Given the description of an element on the screen output the (x, y) to click on. 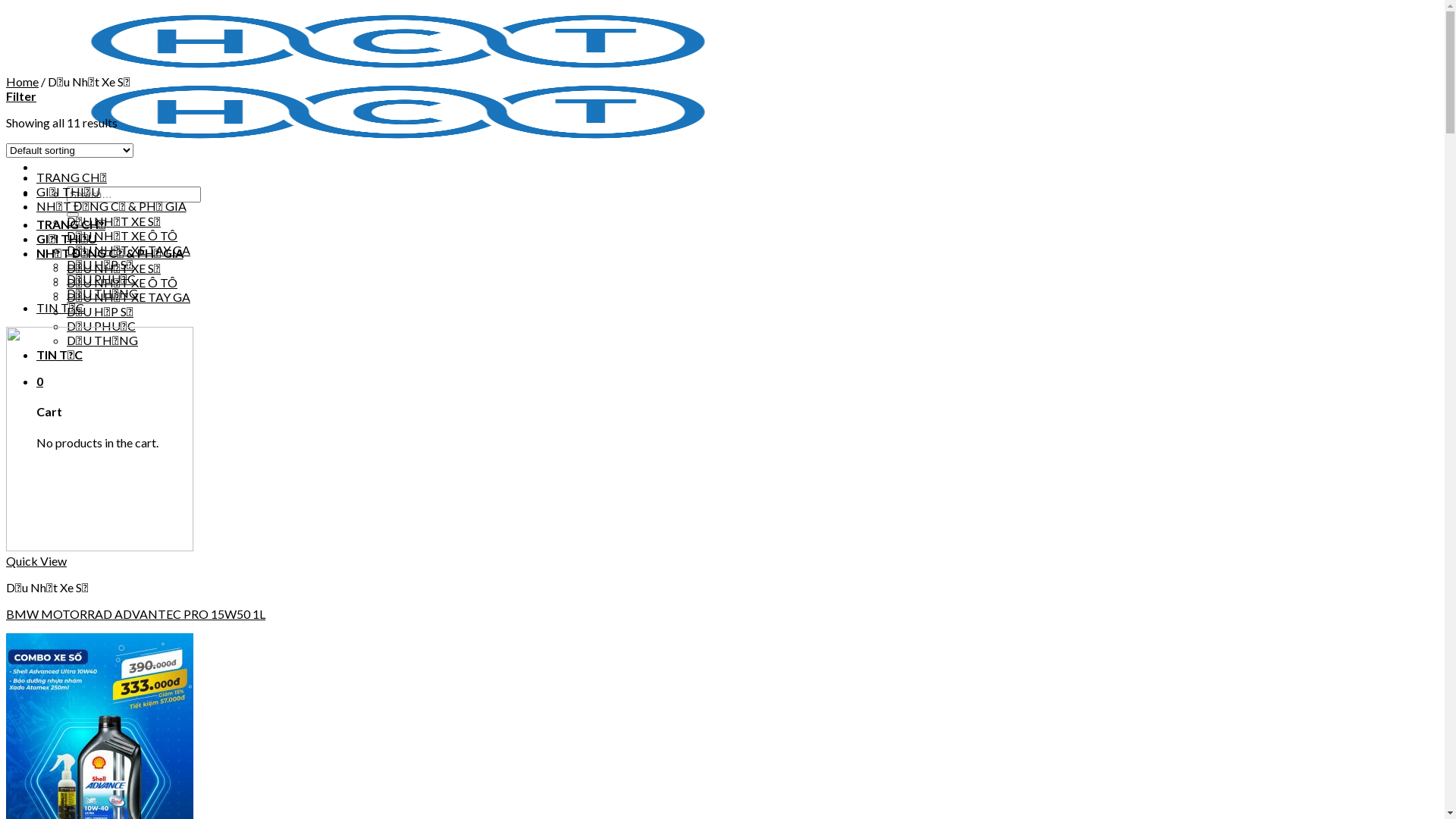
Search Element type: text (72, 214)
Skip to content Element type: text (5, 5)
Filter Element type: text (21, 95)
0 Element type: text (39, 380)
Quick View Element type: text (36, 560)
BMW MOTORRAD ADVANTEC PRO 15W50 1L Element type: text (135, 613)
Home Element type: text (22, 81)
